Given the description of an element on the screen output the (x, y) to click on. 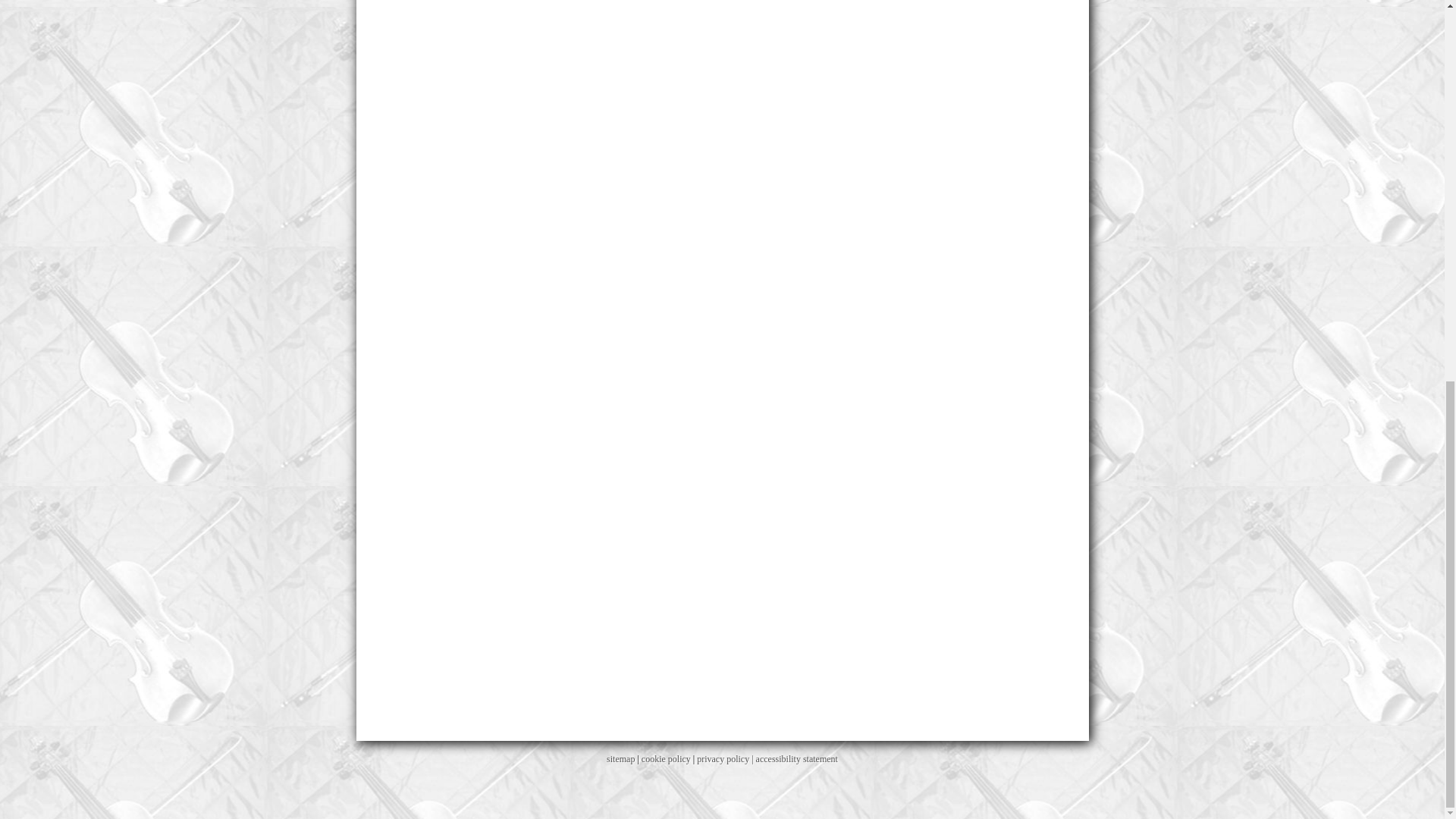
accessibility statement (796, 758)
sitemap (620, 758)
cookie policy (666, 758)
